Given the description of an element on the screen output the (x, y) to click on. 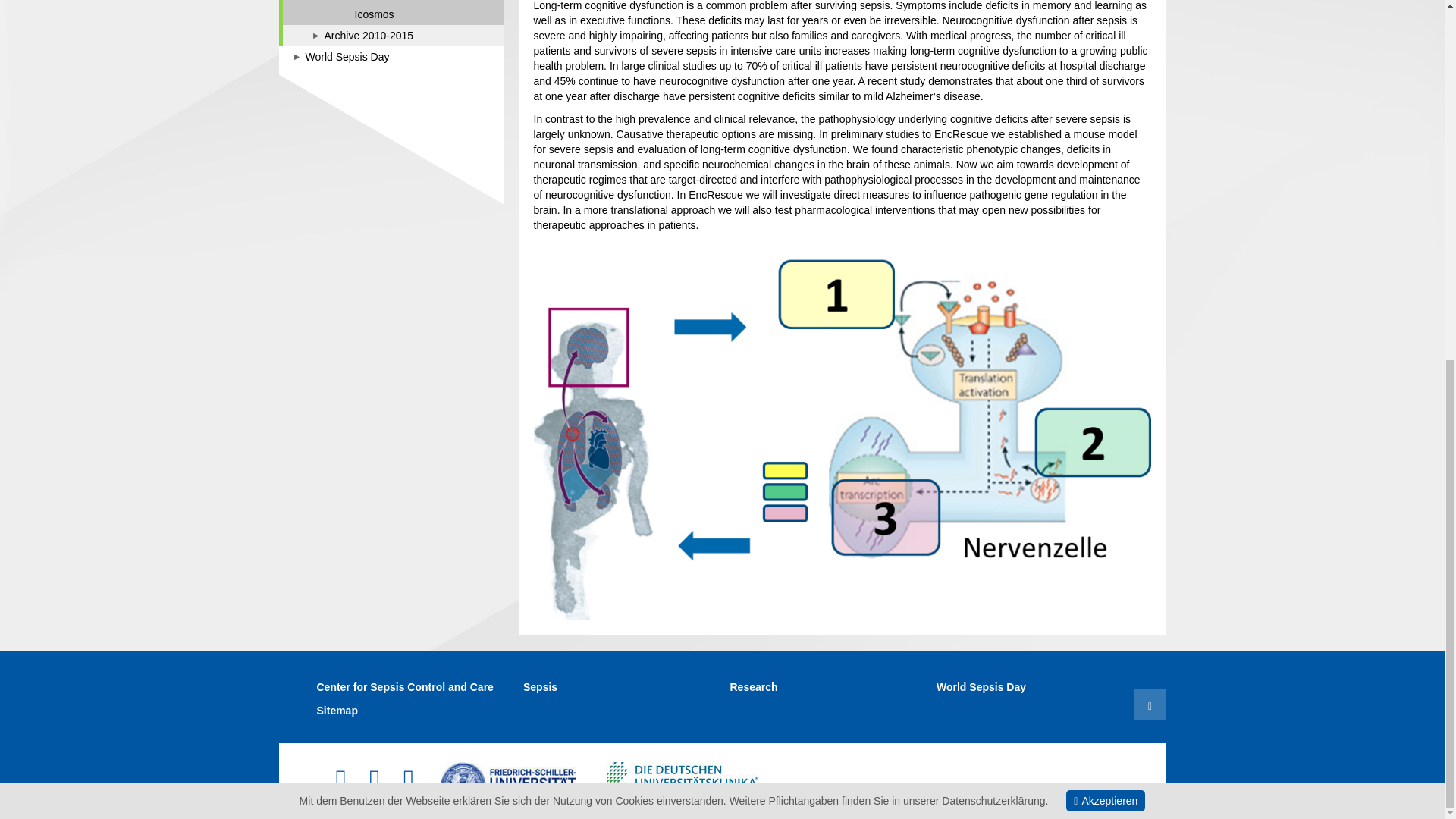
FSU (508, 780)
VUD (682, 772)
VUD (682, 780)
FSU (508, 780)
